Given the description of an element on the screen output the (x, y) to click on. 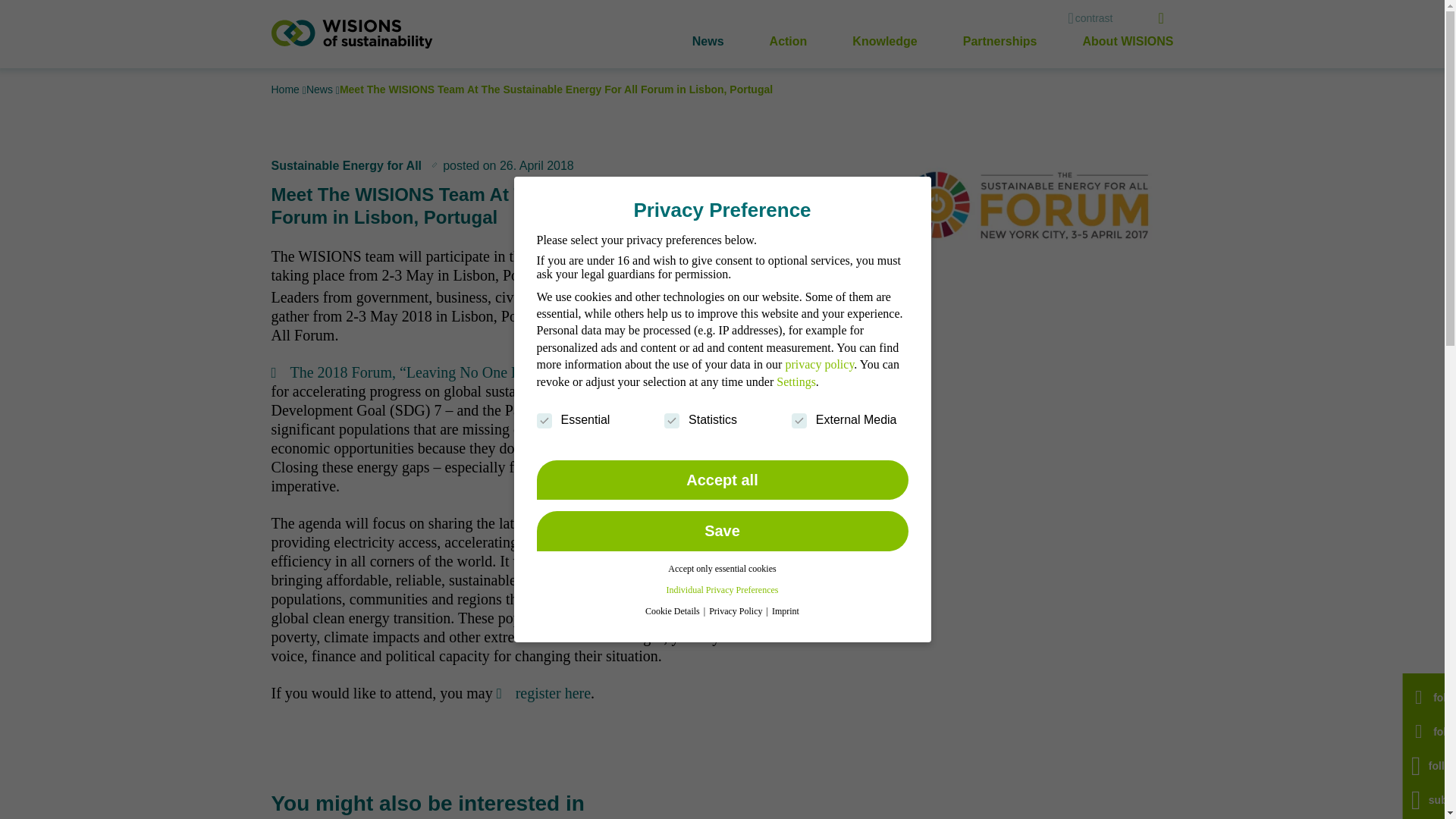
About WISIONS (1128, 41)
search (1165, 18)
Home (286, 89)
register here (543, 692)
contrast (1089, 18)
Action (789, 41)
WISIONS (351, 33)
WISIONS (351, 33)
News (320, 89)
News (708, 41)
